Given the description of an element on the screen output the (x, y) to click on. 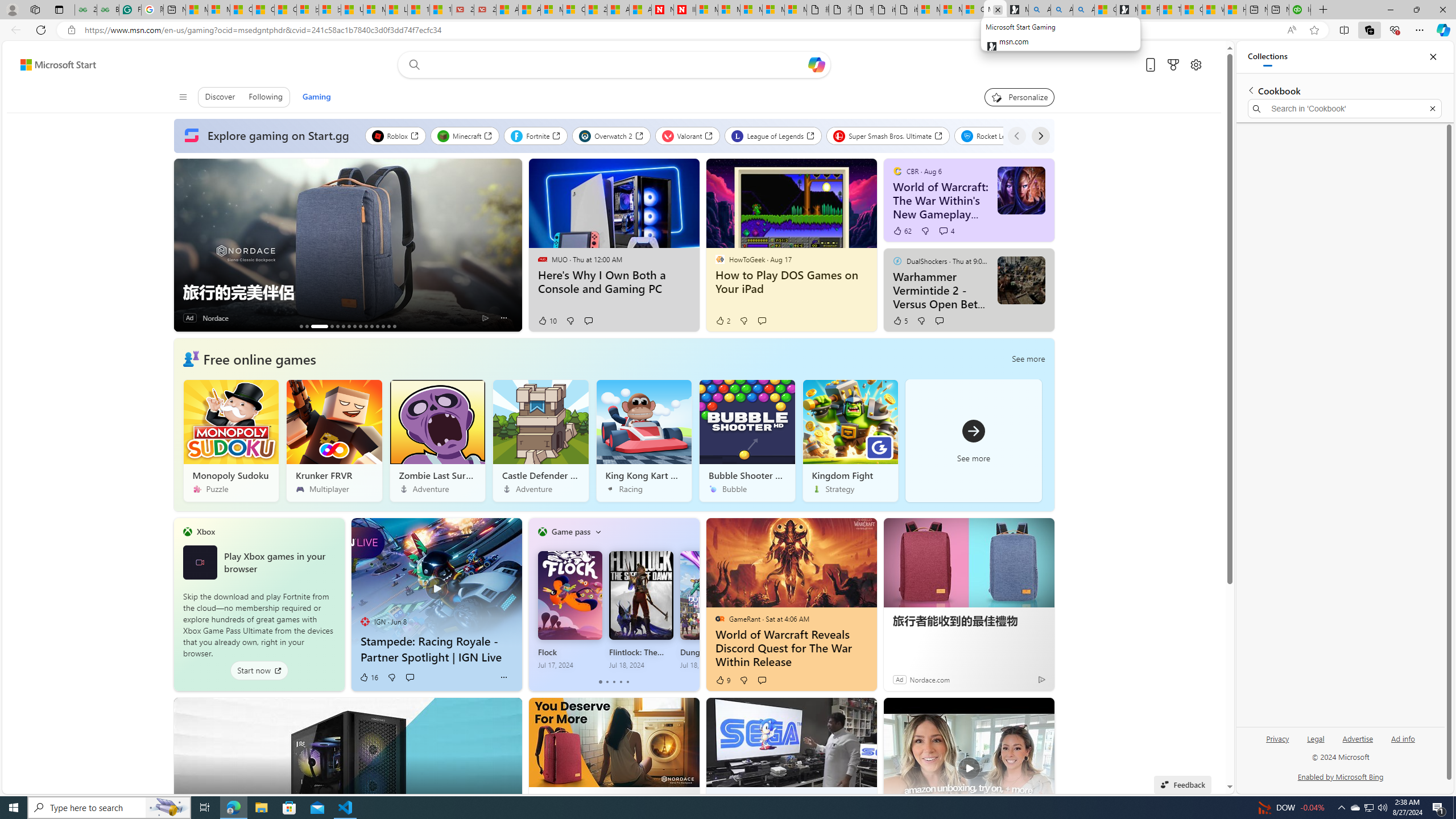
Class: background-image-ntp-v2 (850, 422)
Next slide (512, 245)
16 Like (367, 676)
USA TODAY - MSN (352, 9)
Overwatch 2 (610, 135)
